Given the description of an element on the screen output the (x, y) to click on. 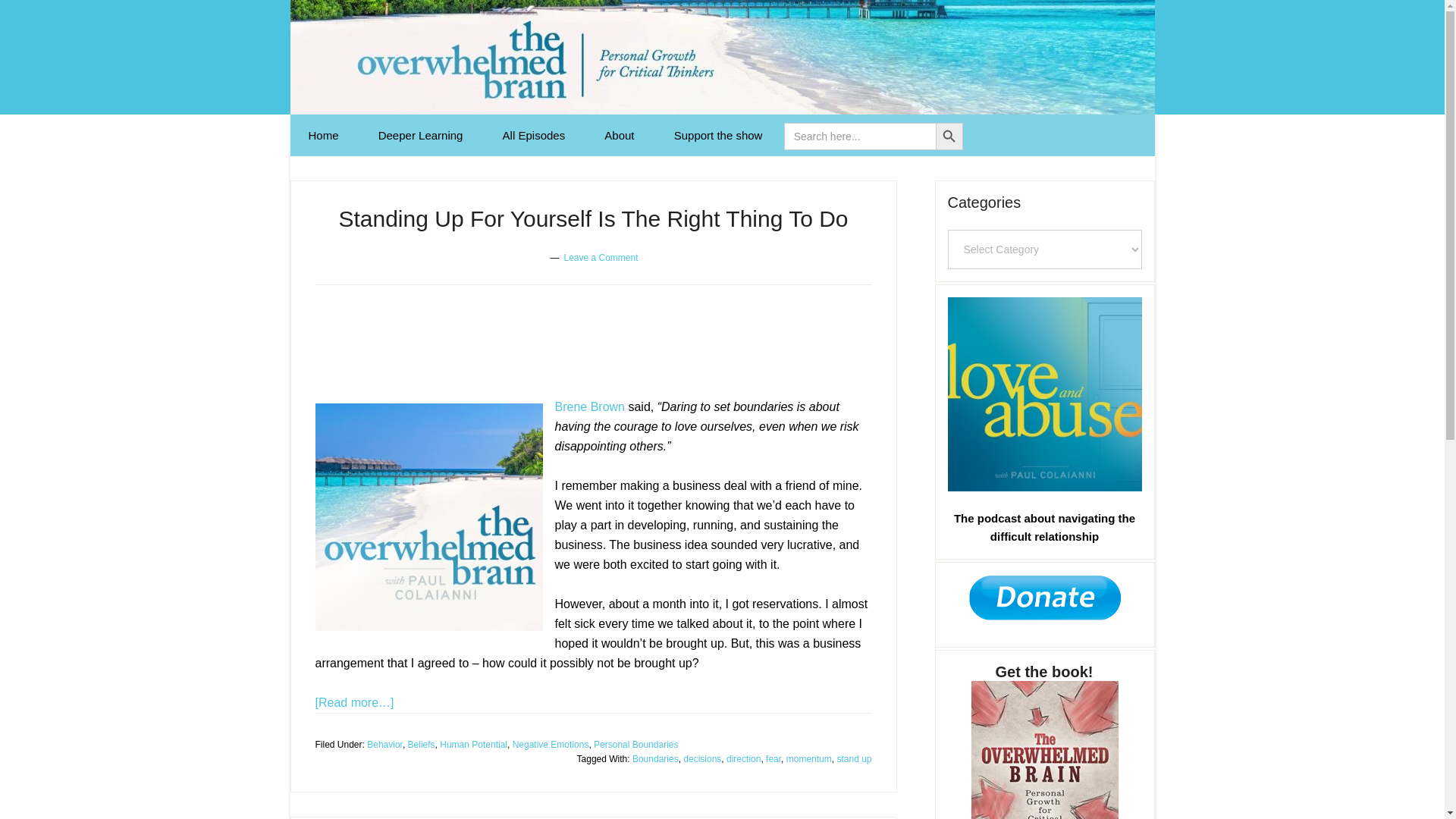
Home (322, 135)
Beliefs (421, 743)
About (619, 135)
Deeper Learning (420, 135)
Support the show (718, 135)
All Episodes (533, 135)
Boundaries (654, 758)
Leave a Comment (600, 257)
direction (743, 758)
The Overwhelmed Brain (721, 57)
Personal Boundaries (636, 743)
Standing Up For Yourself Is The Right Thing To Do (592, 218)
stand up (852, 758)
Brene Brown (590, 406)
Behavior (384, 743)
